Given the description of an element on the screen output the (x, y) to click on. 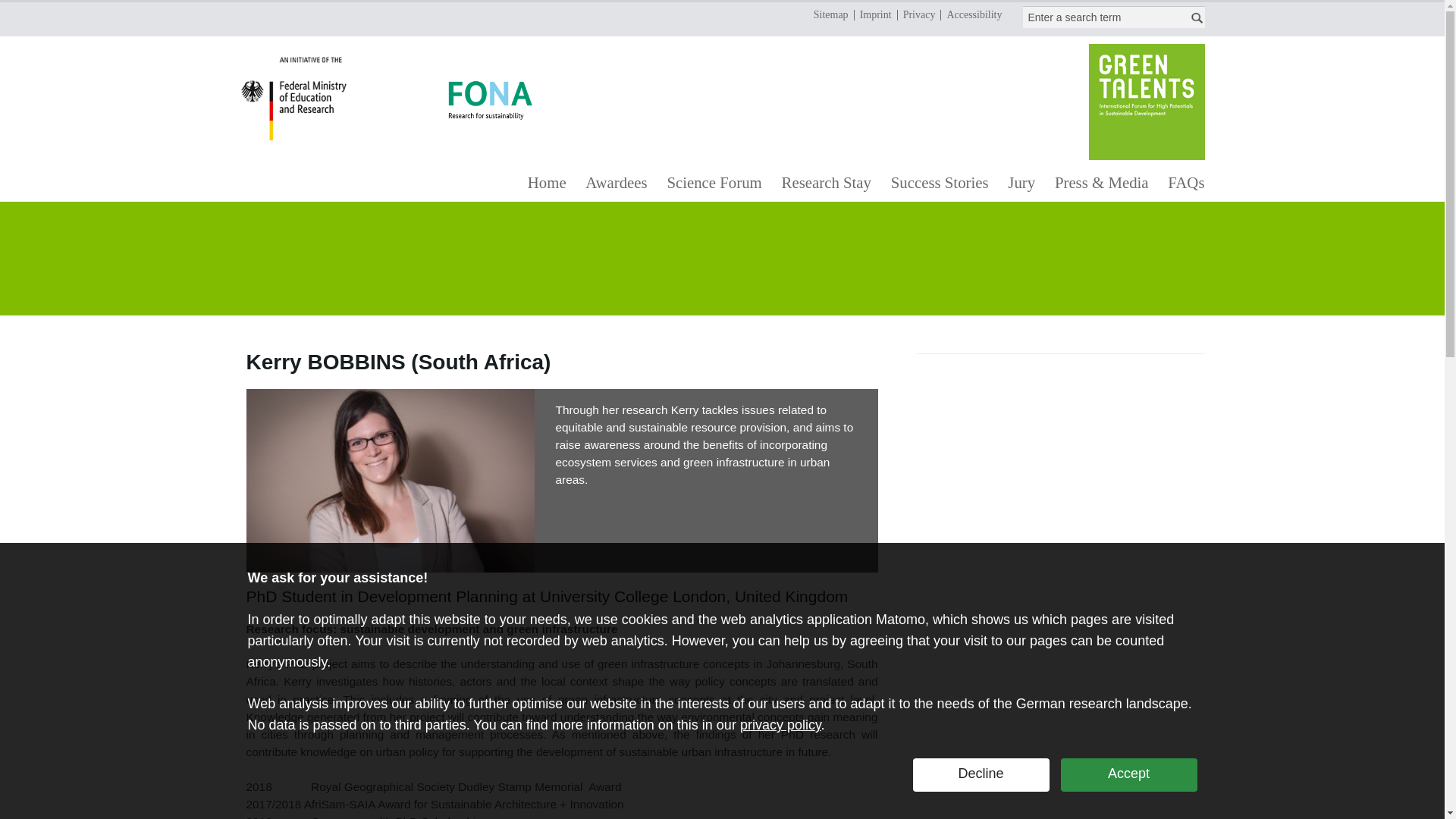
Enter a search term (1101, 16)
Research Stay (826, 194)
Link zu Fona (490, 100)
Privacy (918, 14)
Greentalents Logo (1147, 103)
Enter a search term (1101, 16)
Success Stories (938, 194)
Imprint (874, 14)
Science Forum (714, 194)
privacy policy (780, 724)
Link zum BMBF (300, 102)
FONA (390, 480)
Awardees (616, 194)
Sitemap (830, 14)
Home (546, 194)
